Given the description of an element on the screen output the (x, y) to click on. 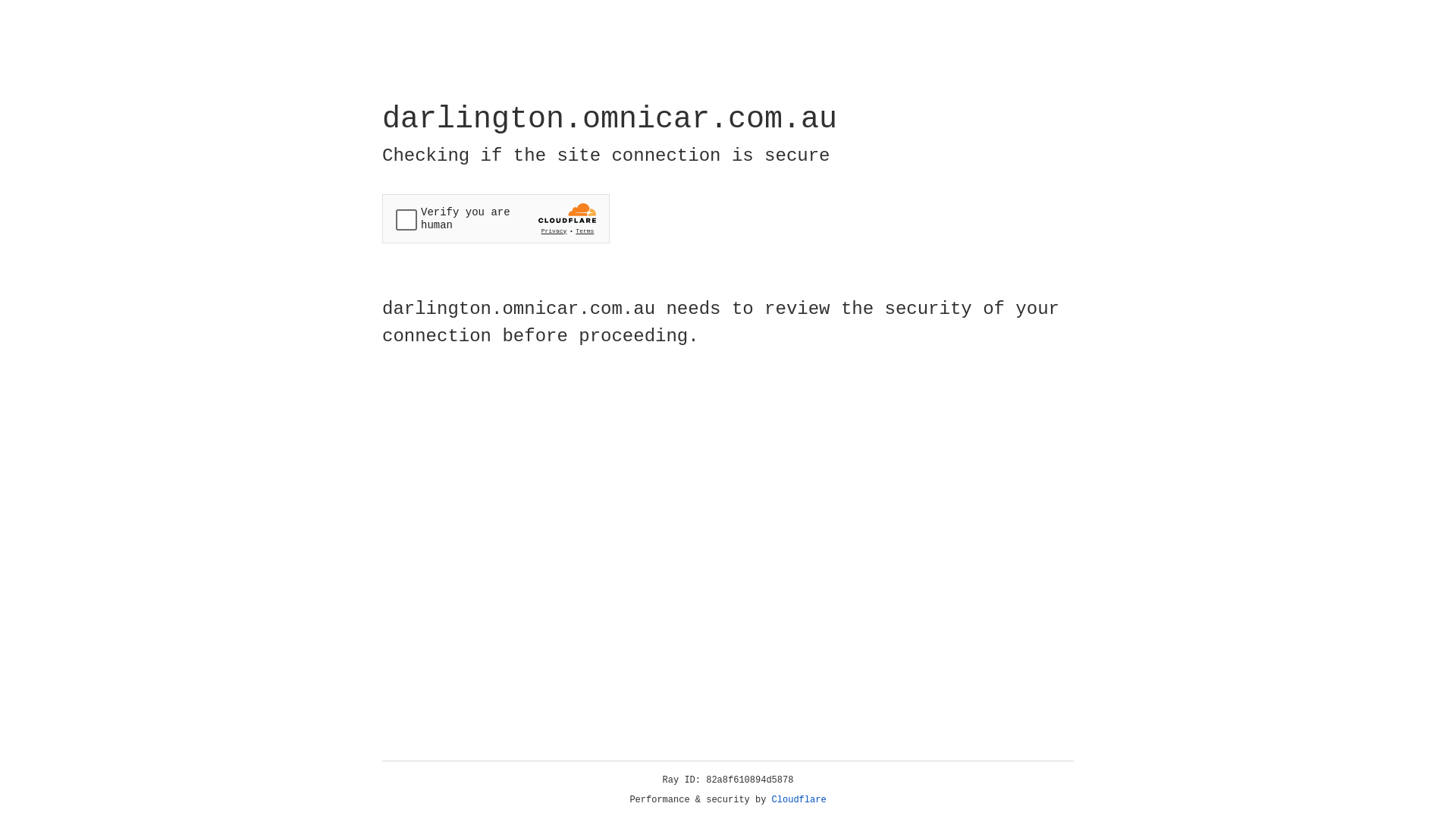
Widget containing a Cloudflare security challenge Element type: hover (495, 218)
Cloudflare Element type: text (798, 799)
